Given the description of an element on the screen output the (x, y) to click on. 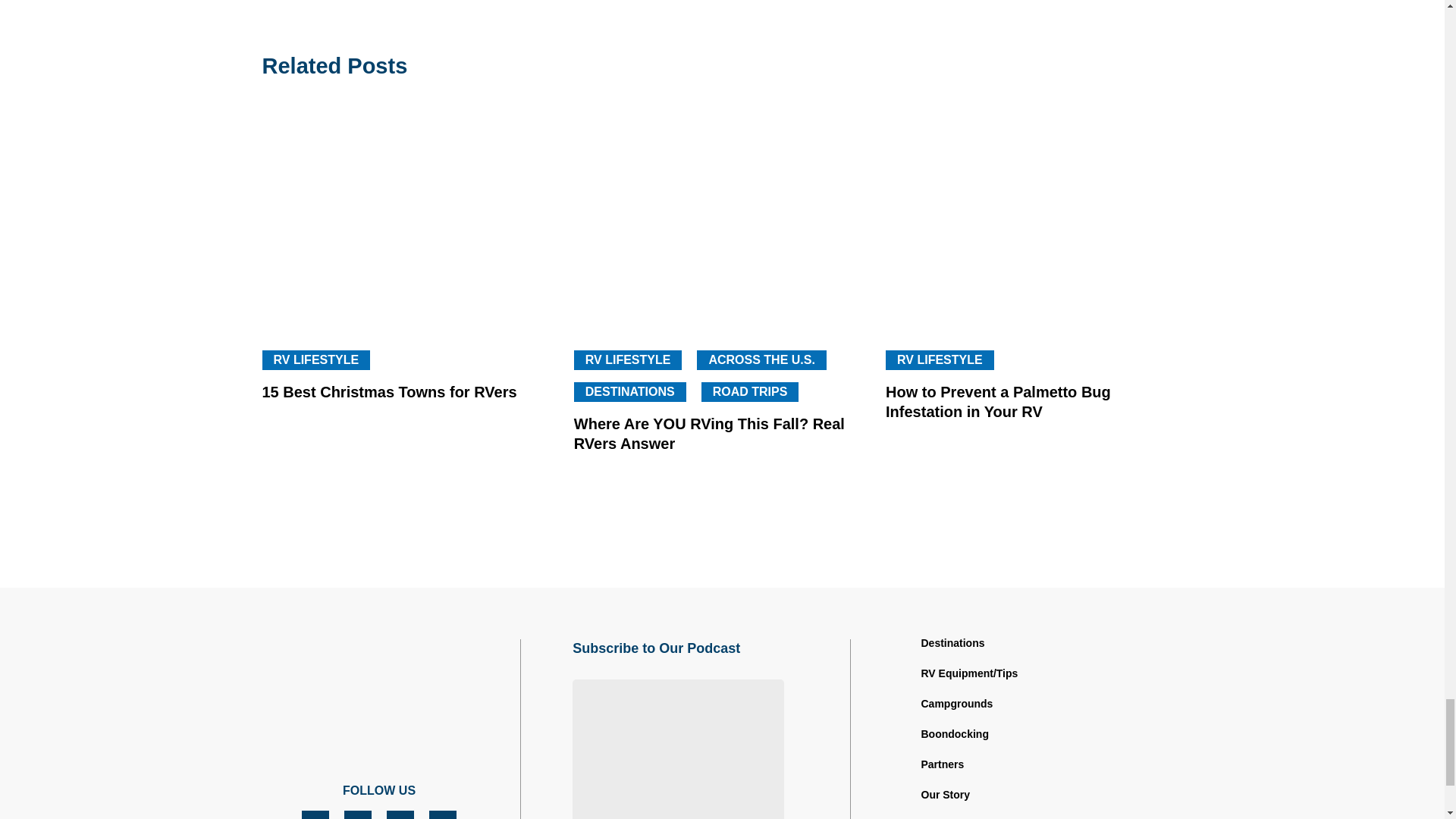
15 Best Christmas Towns for RVers 6 (410, 222)
How to Prevent a Palmetto Bug Infestation in Your RV 8 (1033, 222)
Where Are YOU RVing This Fall? Real RVers Answer 7 (721, 222)
